Given the description of an element on the screen output the (x, y) to click on. 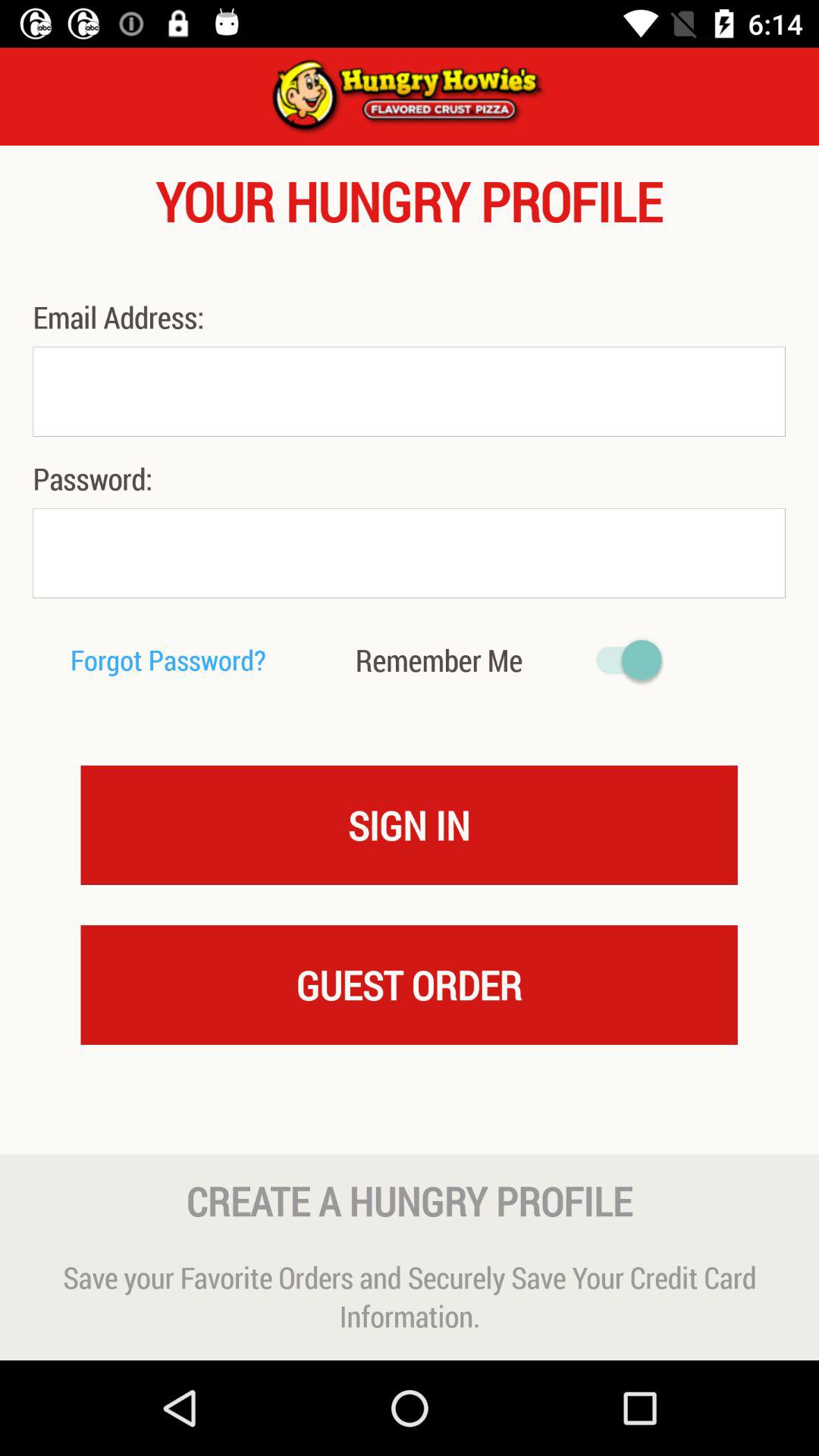
enter your password (408, 553)
